Given the description of an element on the screen output the (x, y) to click on. 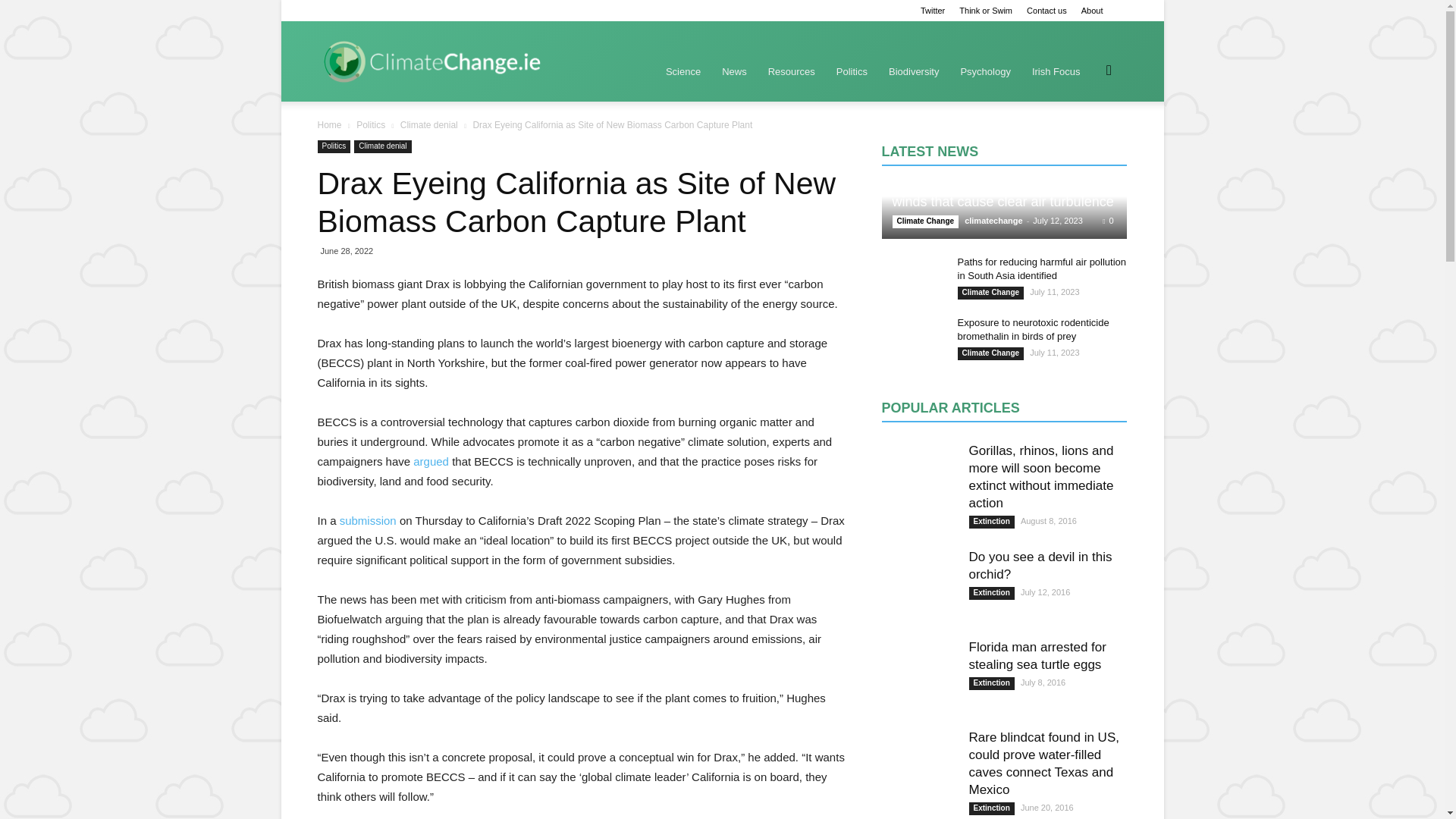
View all posts in Climate denial (430, 124)
Climate change Ireland (430, 61)
View all posts in Politics (371, 124)
